Given the description of an element on the screen output the (x, y) to click on. 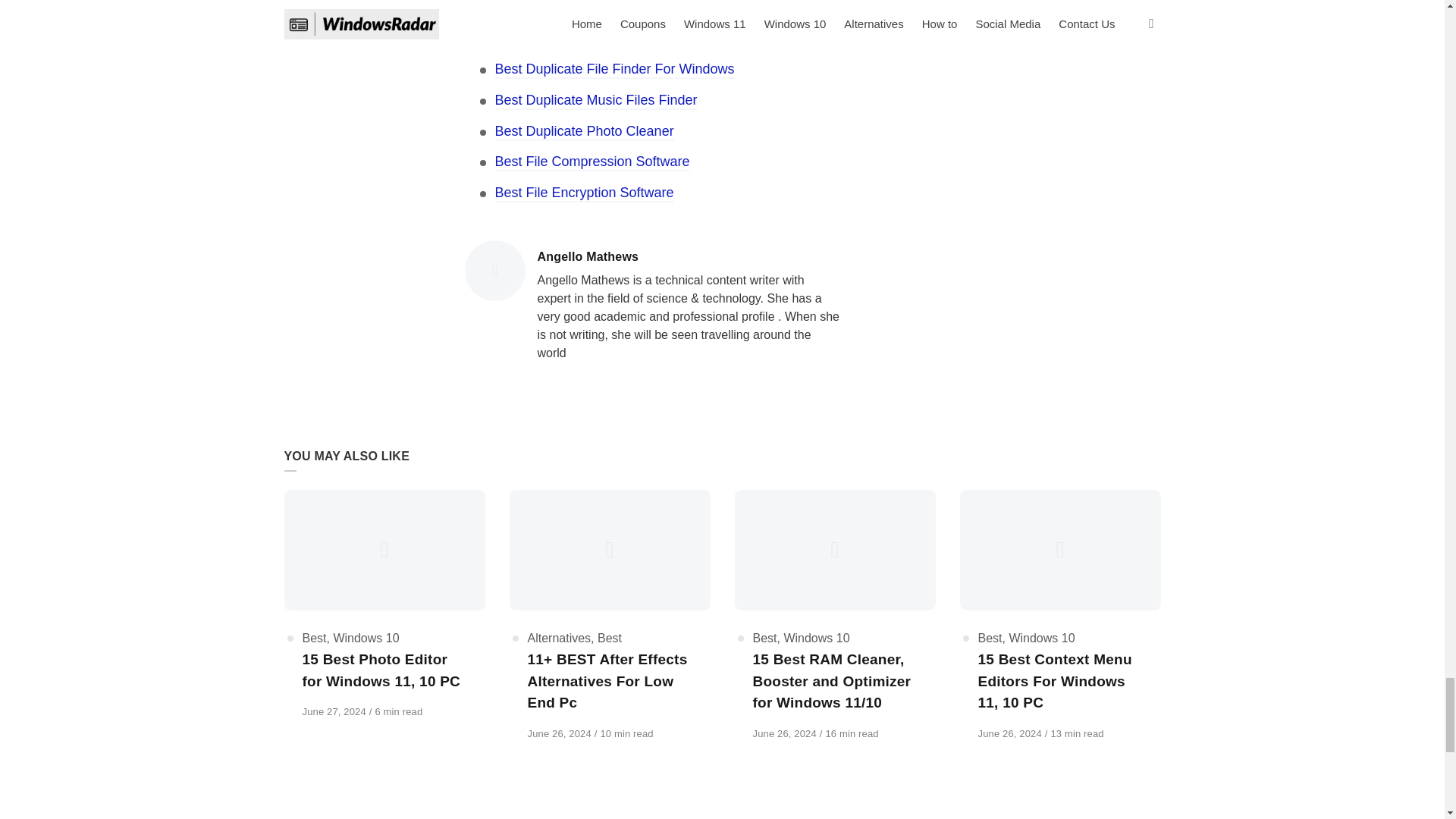
Best Data Shredder Apps for Android (606, 8)
June 27, 2024 (334, 711)
June 26, 2024 (560, 733)
